Given the description of an element on the screen output the (x, y) to click on. 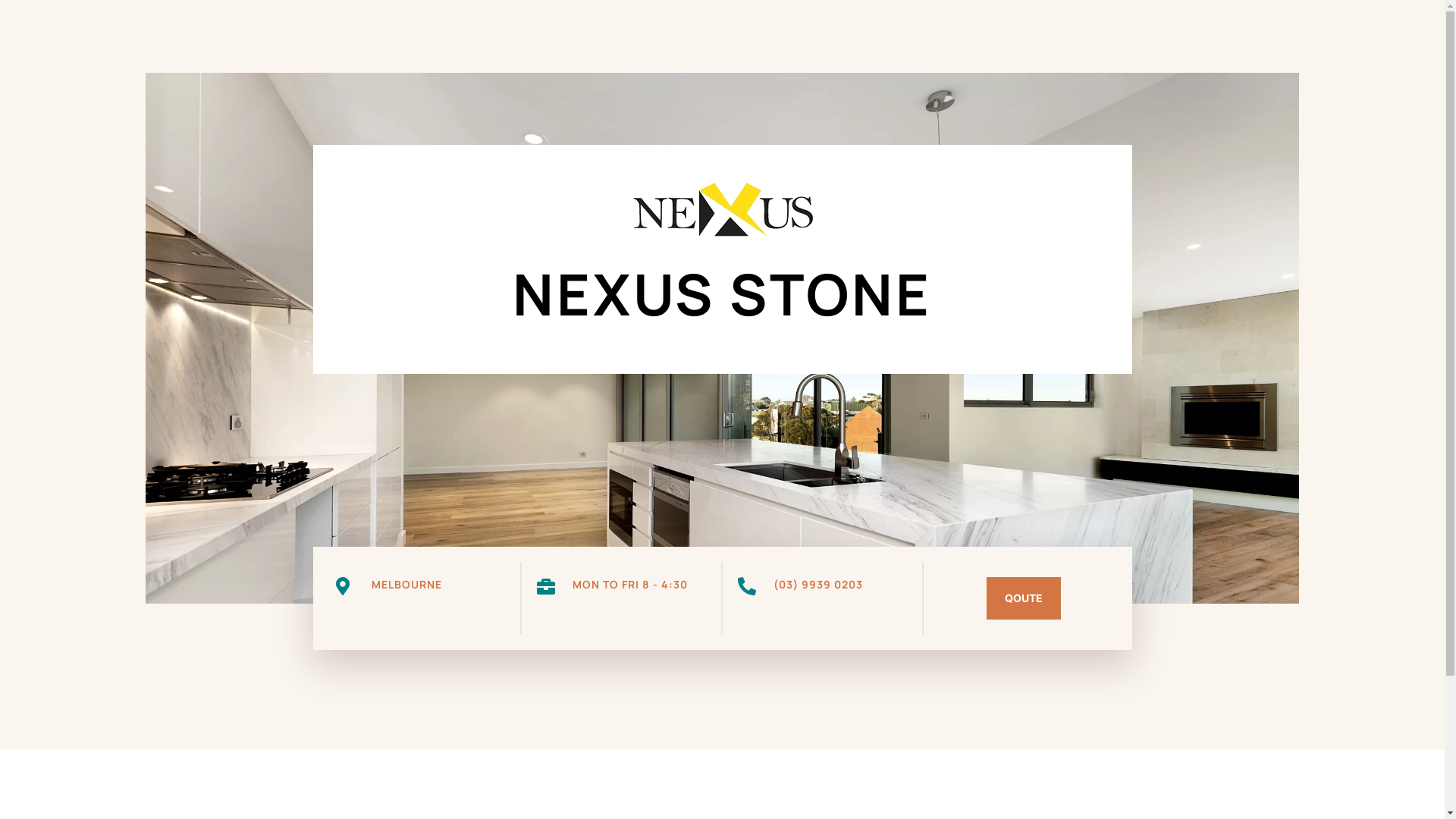
nexus stone logo Element type: hover (721, 210)
MELBOURNE Element type: text (406, 584)
(03) 9939 0203 Element type: text (817, 584)
QOUTE Element type: text (1023, 598)
